Given the description of an element on the screen output the (x, y) to click on. 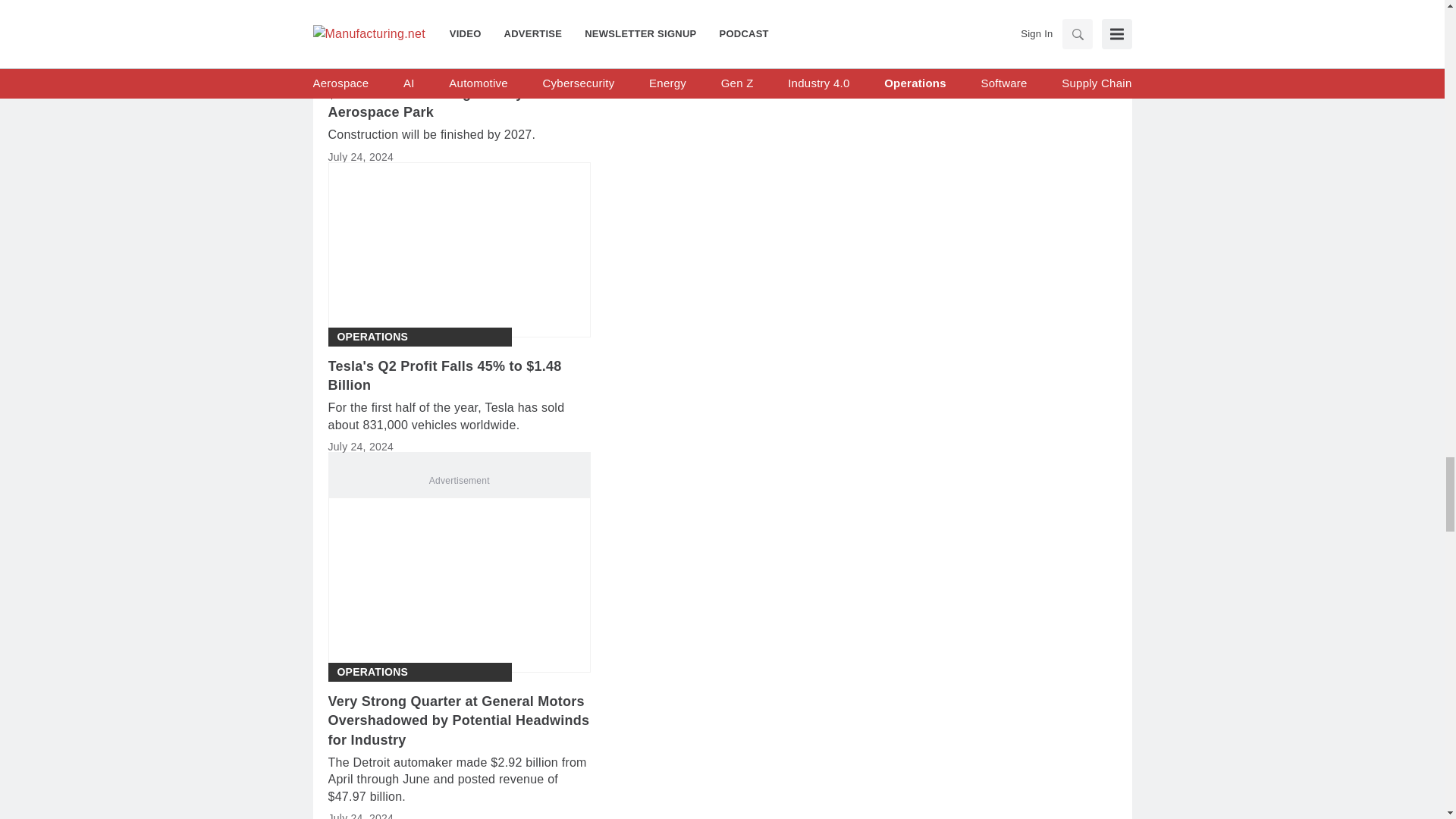
Operations (371, 44)
Operations (371, 336)
